Given the description of an element on the screen output the (x, y) to click on. 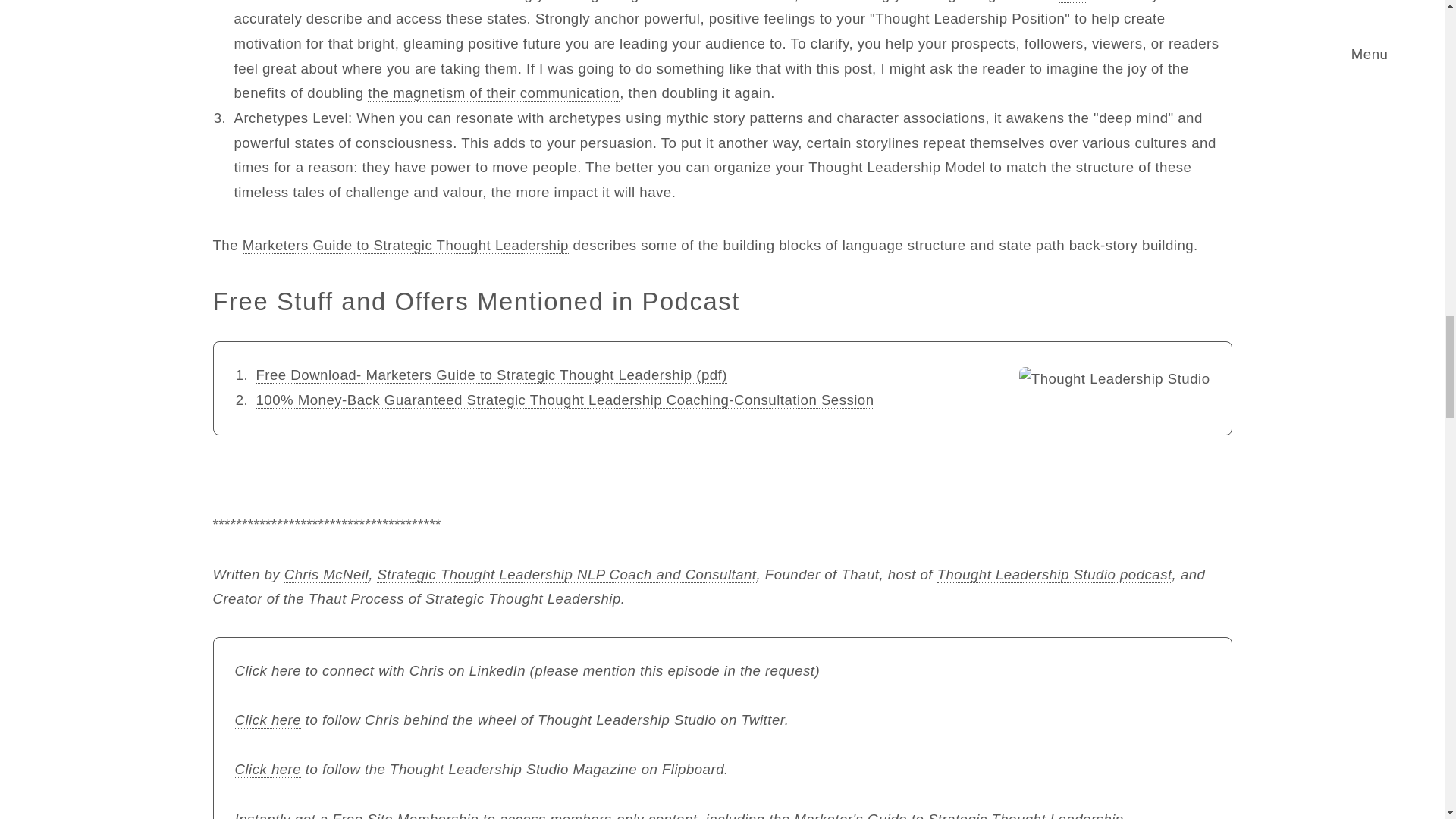
Marketer's Guide to Strategic Thought Leadership (958, 815)
Chris McNeil (325, 574)
Thought Leadership Studio podcast (1054, 574)
Strategic Thought Leadership NLP Coach and Consultant (566, 574)
Click here (267, 670)
Click here (267, 769)
Click here (267, 719)
Marketers Guide to Strategic Thought Leadership (406, 245)
NLP (1072, 1)
Free Site Membership (405, 815)
